Given the description of an element on the screen output the (x, y) to click on. 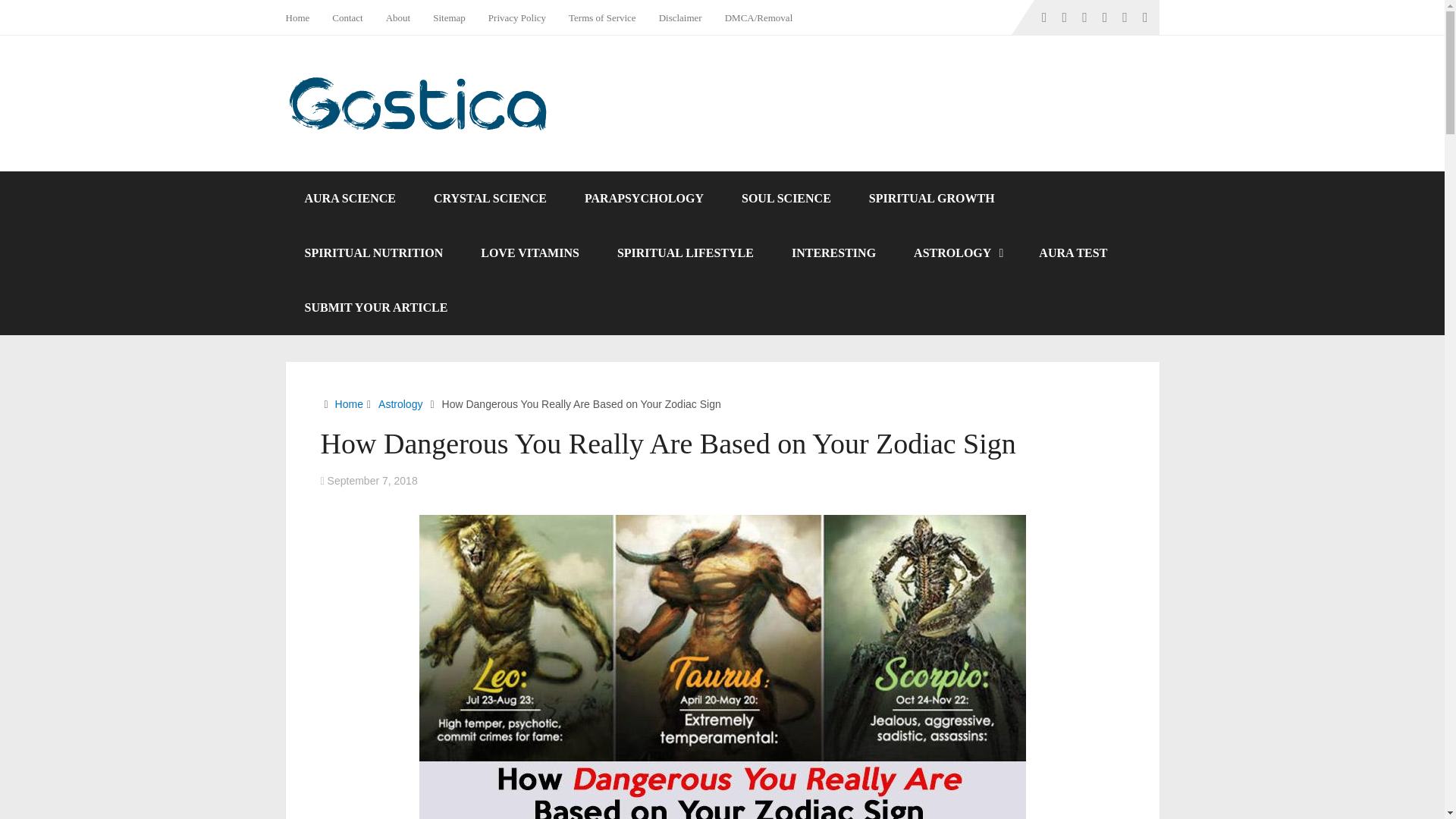
SOUL SCIENCE (786, 198)
SPIRITUAL LIFESTYLE (685, 253)
Terms of Service (602, 17)
Home (302, 17)
LOVE VITAMINS (529, 253)
SPIRITUAL NUTRITION (373, 253)
About (398, 17)
Home (348, 404)
Contact (347, 17)
CRYSTAL SCIENCE (490, 198)
